Given the description of an element on the screen output the (x, y) to click on. 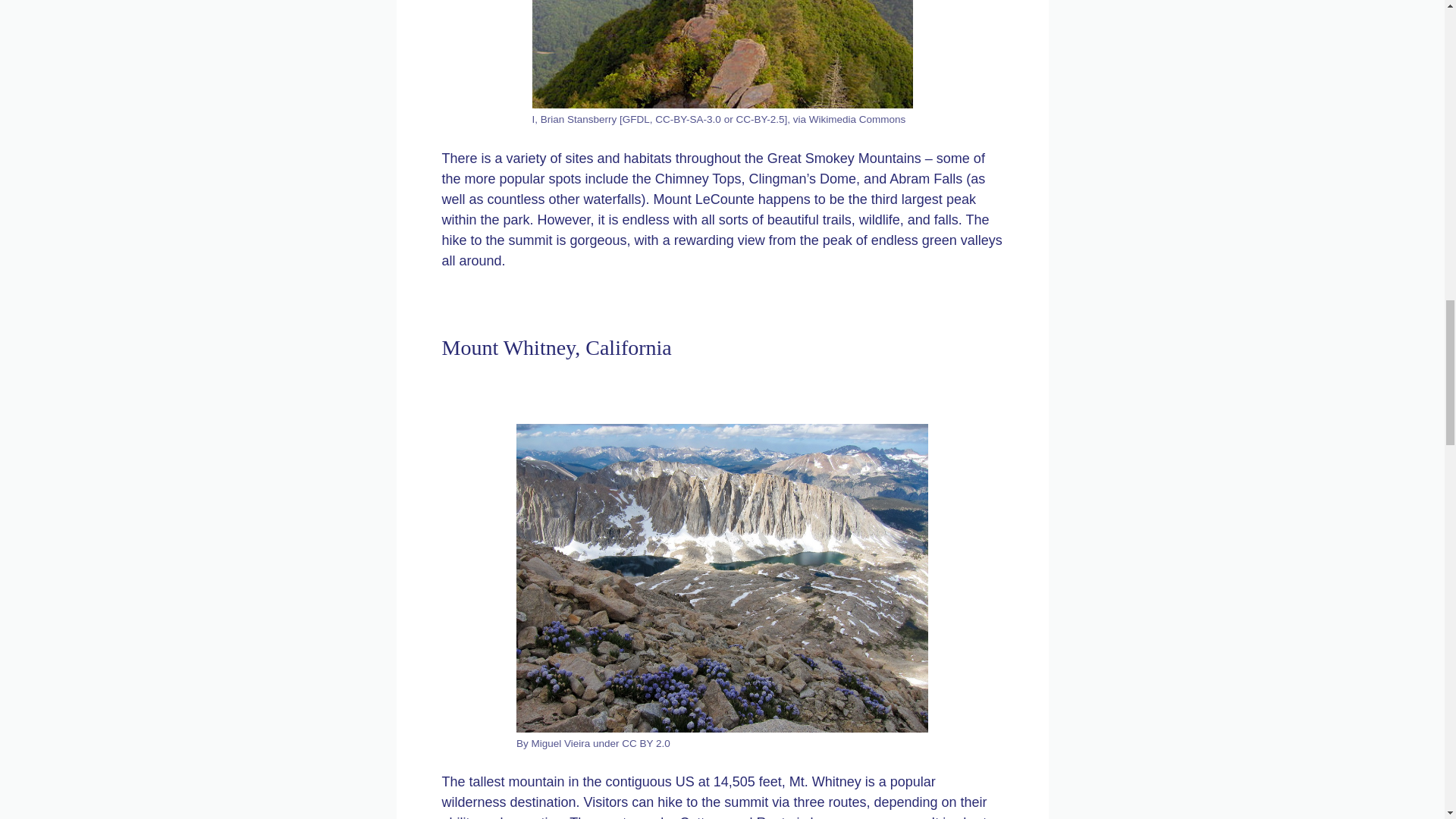
Mount Whitney (722, 578)
via Wikimedia Commons (849, 119)
Miguel Vieira (561, 743)
GFDL (636, 119)
Great Smokey Mountains (844, 158)
CC-BY-2.5 (759, 119)
The lower peak of Chimney Tops, in the Great Smoky Mountains (722, 54)
CC-BY-SA-3.0 (687, 119)
